Given the description of an element on the screen output the (x, y) to click on. 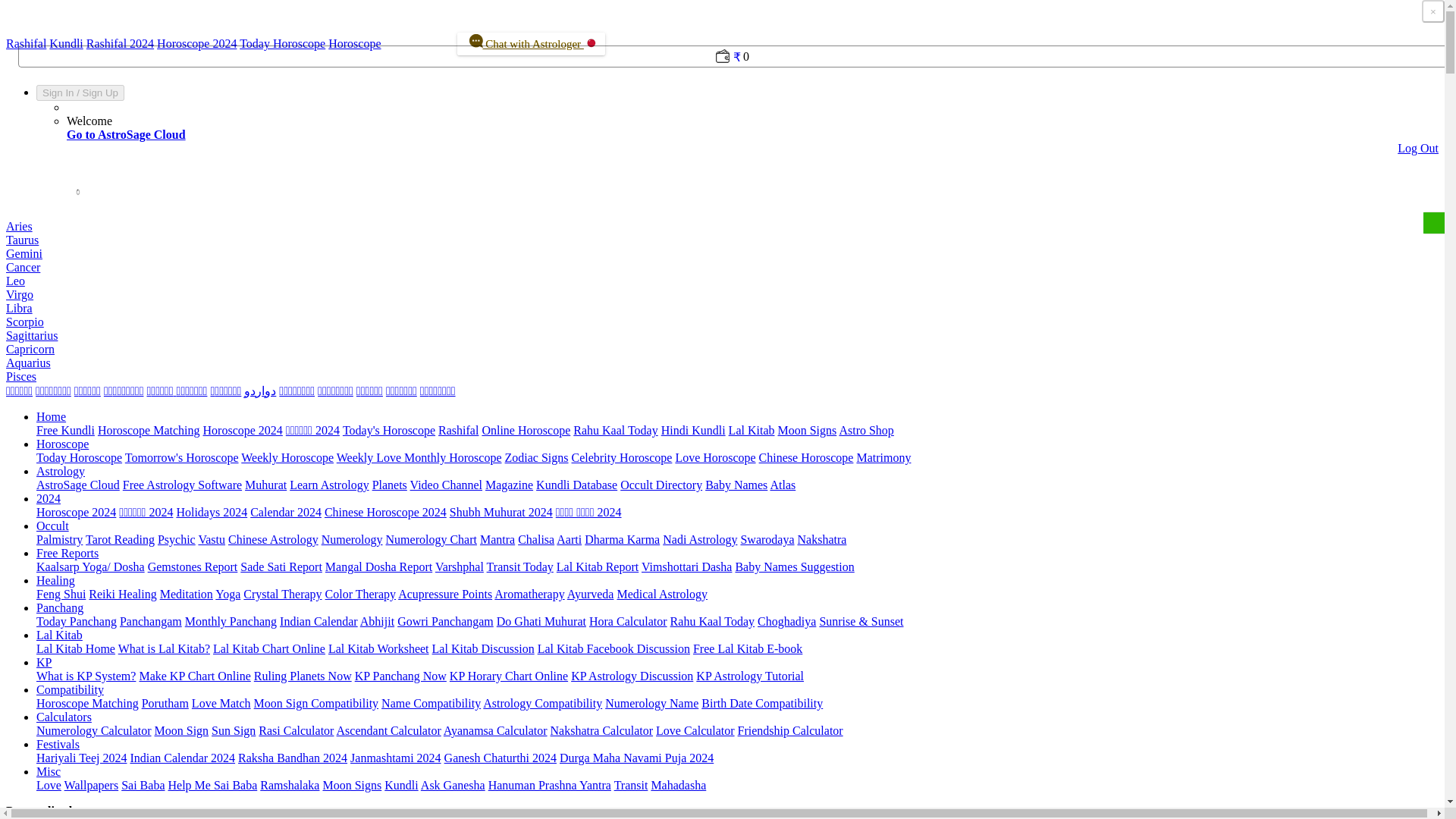
Kannada (87, 390)
Bengali (192, 390)
Malayalam (225, 390)
Horoscope 2024 (196, 42)
Pisces (20, 376)
Marathi (161, 390)
Sign In (58, 92)
Gujarati (123, 390)
Libra (18, 308)
Urdu (260, 390)
Get your daily rashifal in hindi (458, 430)
Capricorn (30, 349)
Rashifal (25, 42)
Sagittarius (31, 335)
Aries (18, 226)
